Given the description of an element on the screen output the (x, y) to click on. 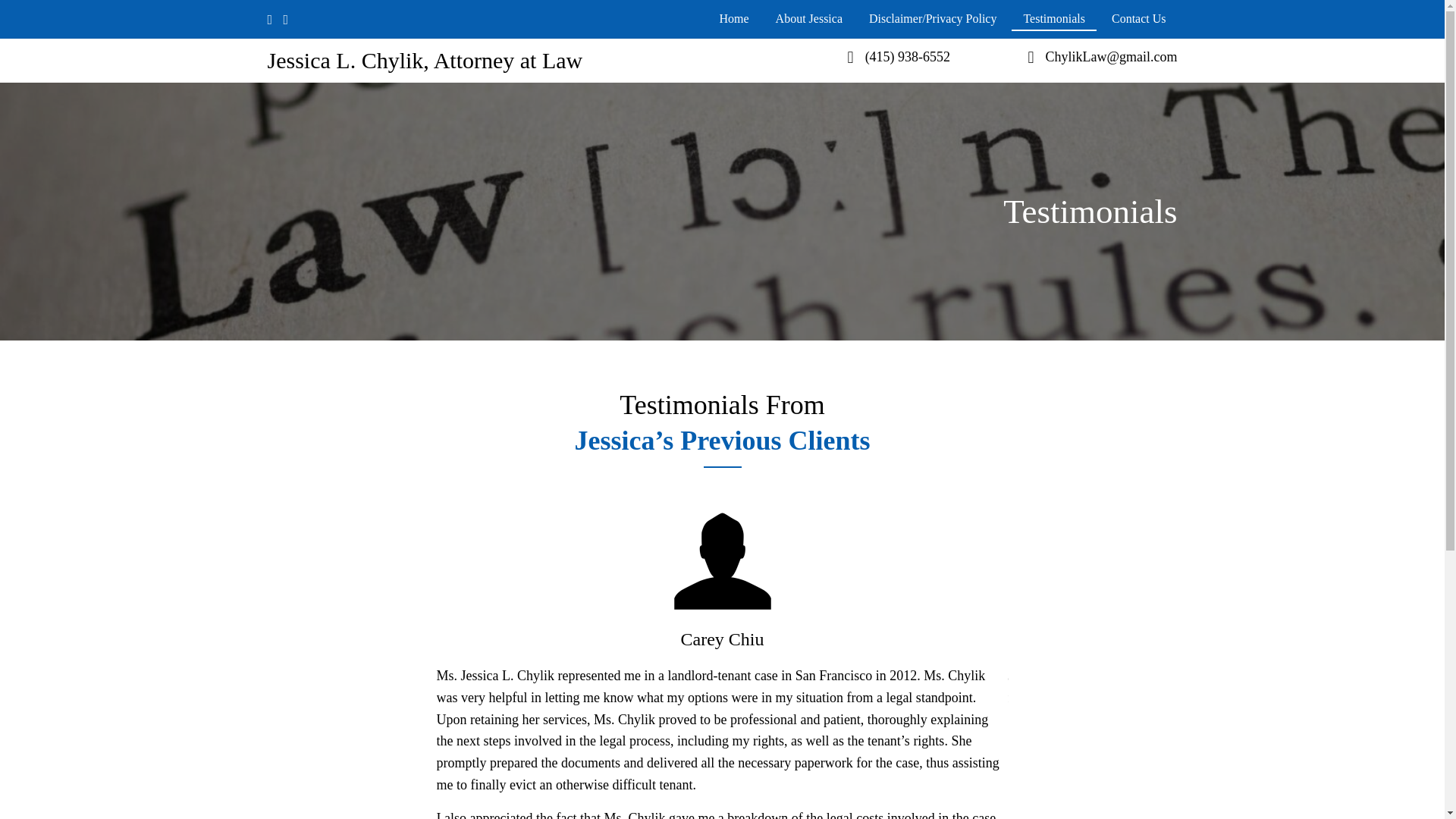
Contact Us (1138, 16)
Jessica L. Chylik, Attorney at Law (424, 59)
Jessica L. Chylik, Attorney at Law (424, 59)
Home (733, 16)
About Jessica (808, 16)
Testimonials (1053, 17)
user-2-128 (721, 560)
